Given the description of an element on the screen output the (x, y) to click on. 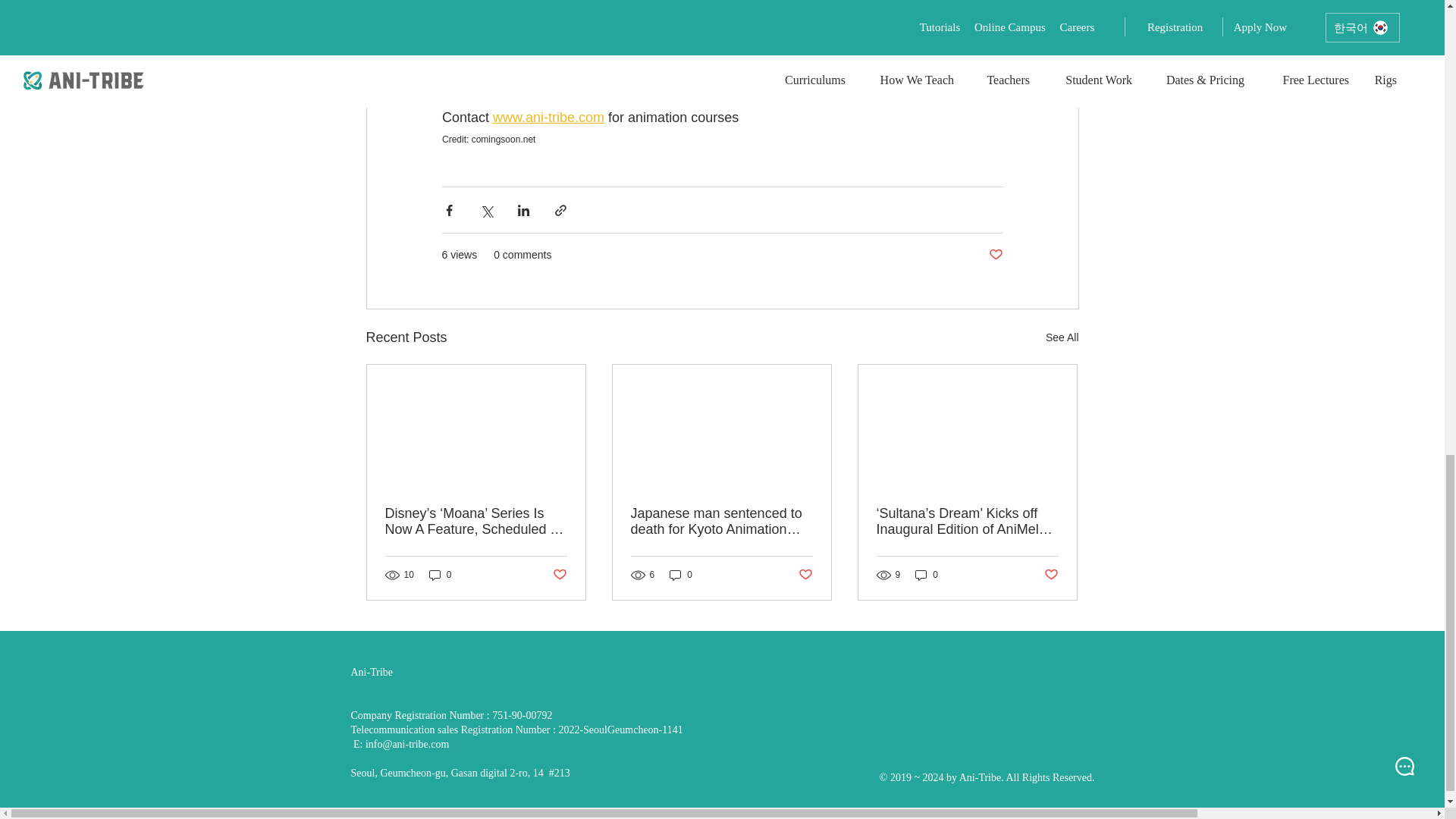
0 (926, 575)
Post not marked as liked (1050, 575)
See All (1061, 337)
0 (440, 575)
Post not marked as liked (995, 254)
Post not marked as liked (558, 575)
Post not marked as liked (804, 575)
www.ani-tribe.com (548, 117)
0 (681, 575)
